Given the description of an element on the screen output the (x, y) to click on. 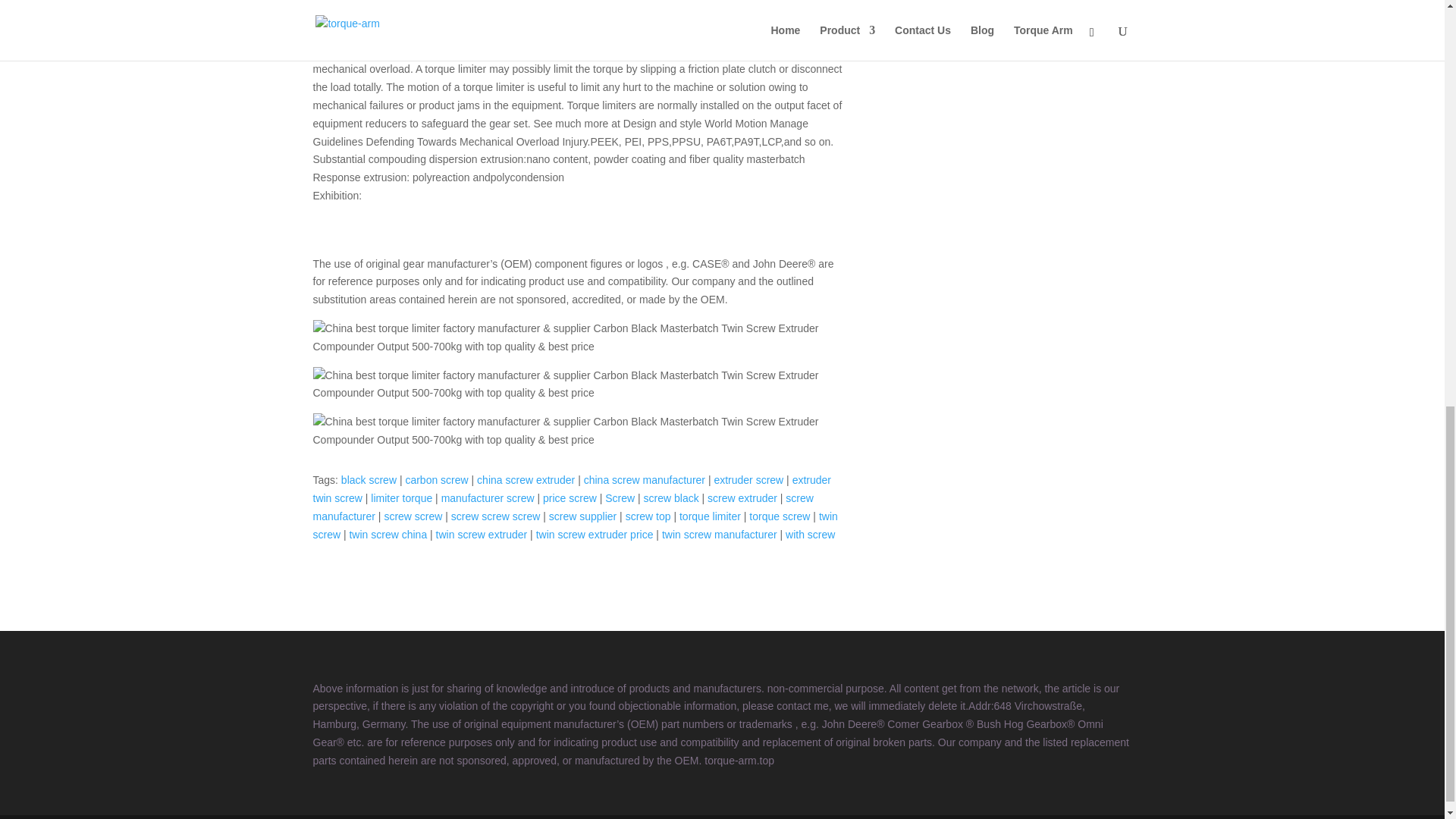
extruder twin screw (572, 489)
screw black (670, 498)
china screw extruder (526, 480)
manufacturer screw (487, 498)
Screw (619, 498)
black screw (368, 480)
screw top (648, 516)
screw screw screw (495, 516)
with screw (810, 534)
torque screw (779, 516)
